Given the description of an element on the screen output the (x, y) to click on. 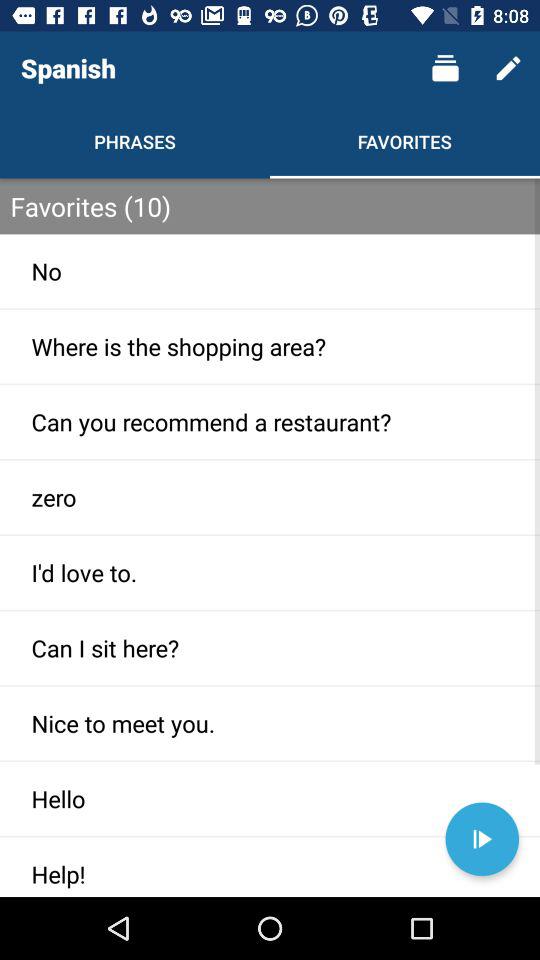
click item above favorites (444, 67)
